Given the description of an element on the screen output the (x, y) to click on. 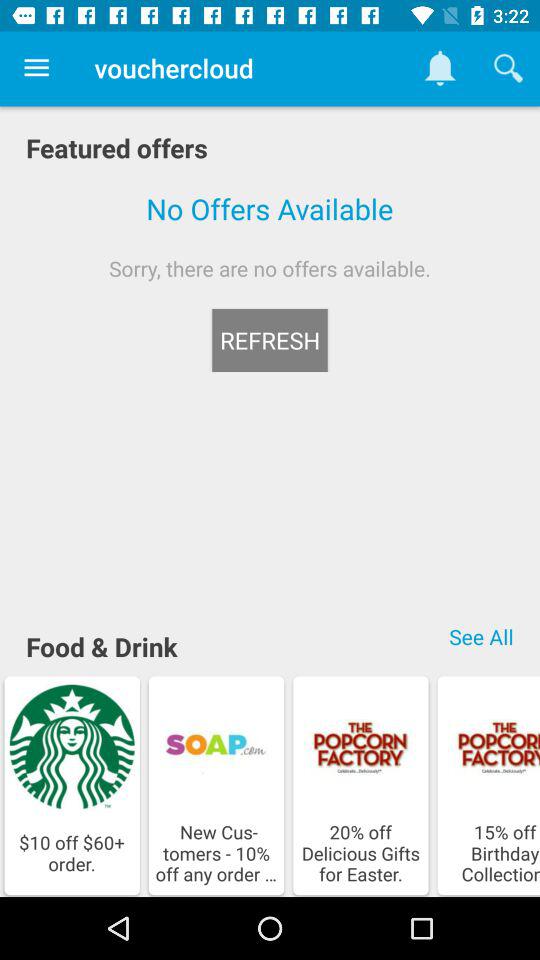
select item on the right (481, 636)
